Given the description of an element on the screen output the (x, y) to click on. 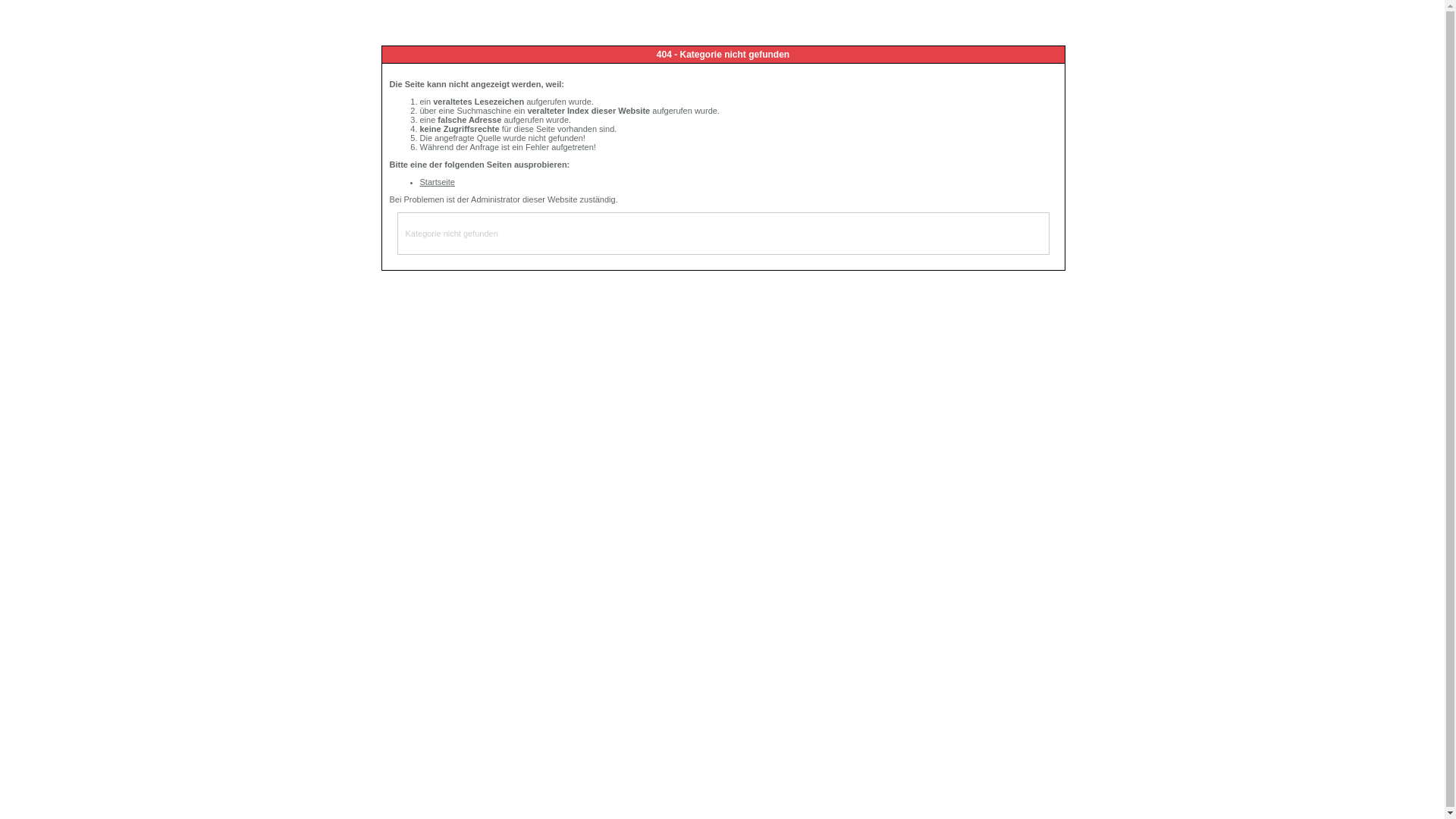
Startseite Element type: text (437, 181)
